Given the description of an element on the screen output the (x, y) to click on. 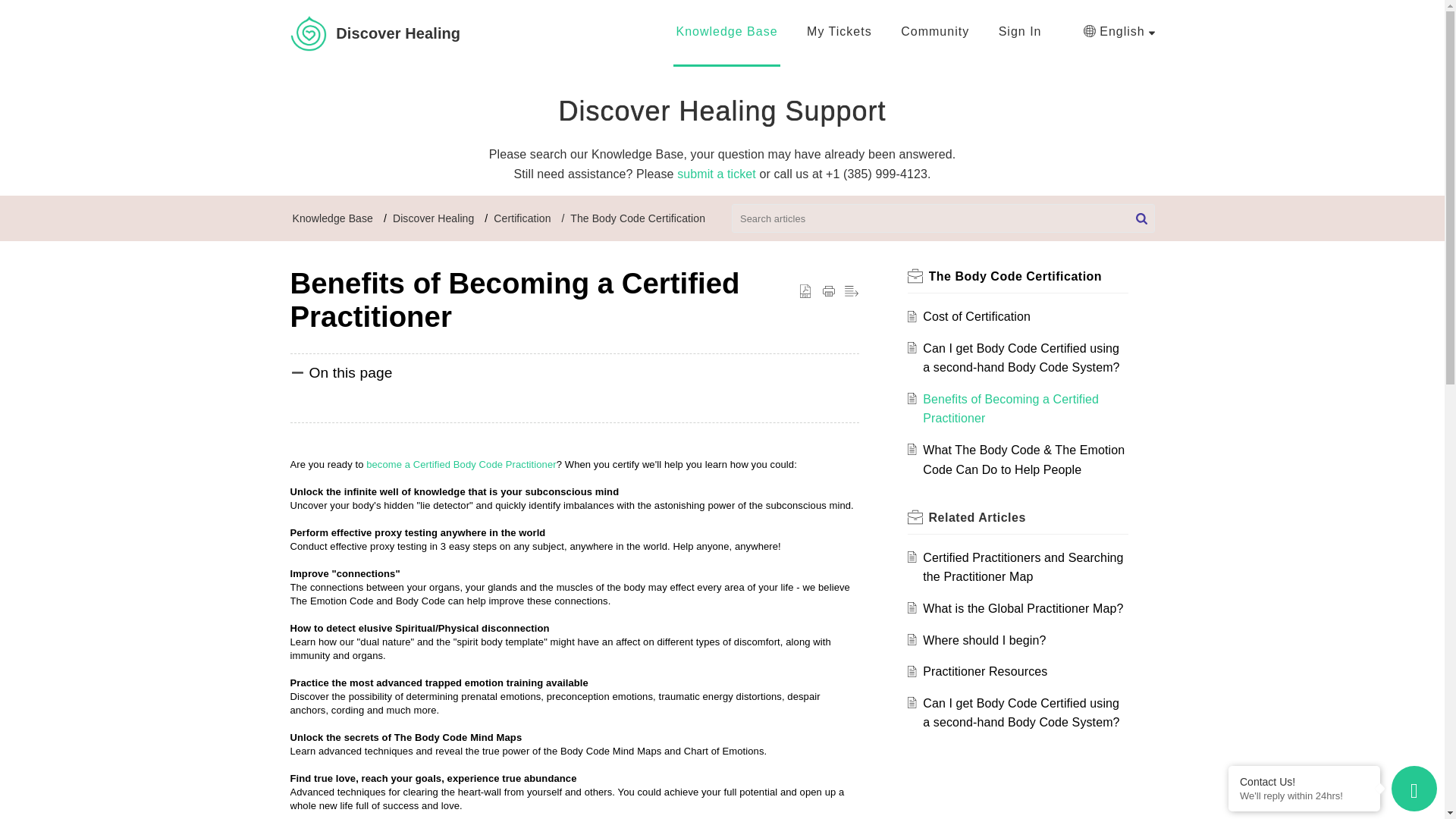
Cost of Certification (976, 316)
My Tickets (839, 31)
Practitioner Resources (984, 671)
submit a ticket (716, 173)
The Body Code Certification (637, 218)
The Body Code Certification (1015, 276)
English (1118, 31)
What is the Global Practitioner Map? (1022, 608)
Certified Practitioners and Searching the Practitioner Map (1022, 567)
Community (935, 31)
Knowledge Base (332, 218)
Community (935, 31)
Where should I begin? (984, 640)
become a Certified Body Code Practitioner (461, 464)
